Given the description of an element on the screen output the (x, y) to click on. 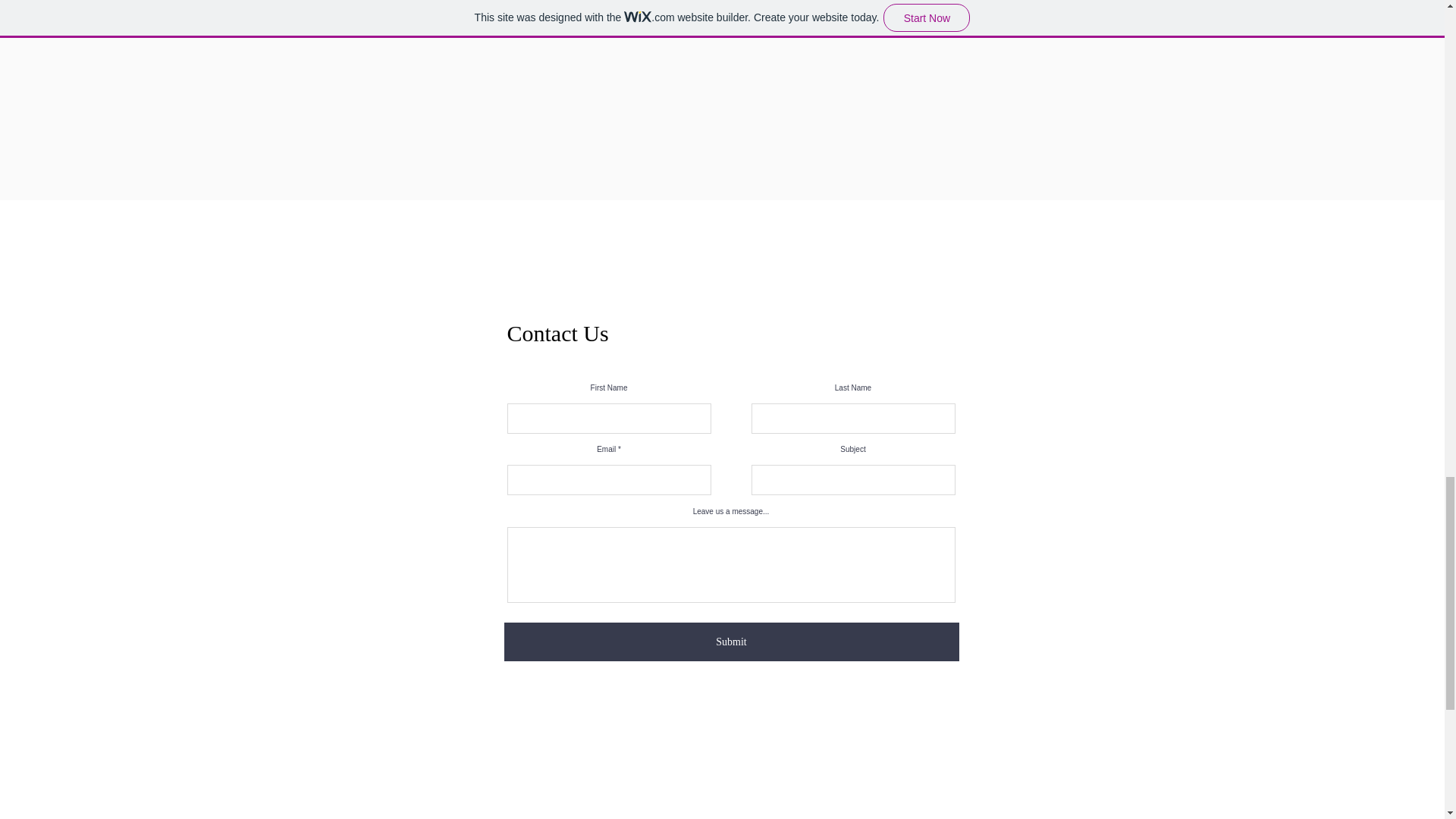
Submit (730, 641)
